Given the description of an element on the screen output the (x, y) to click on. 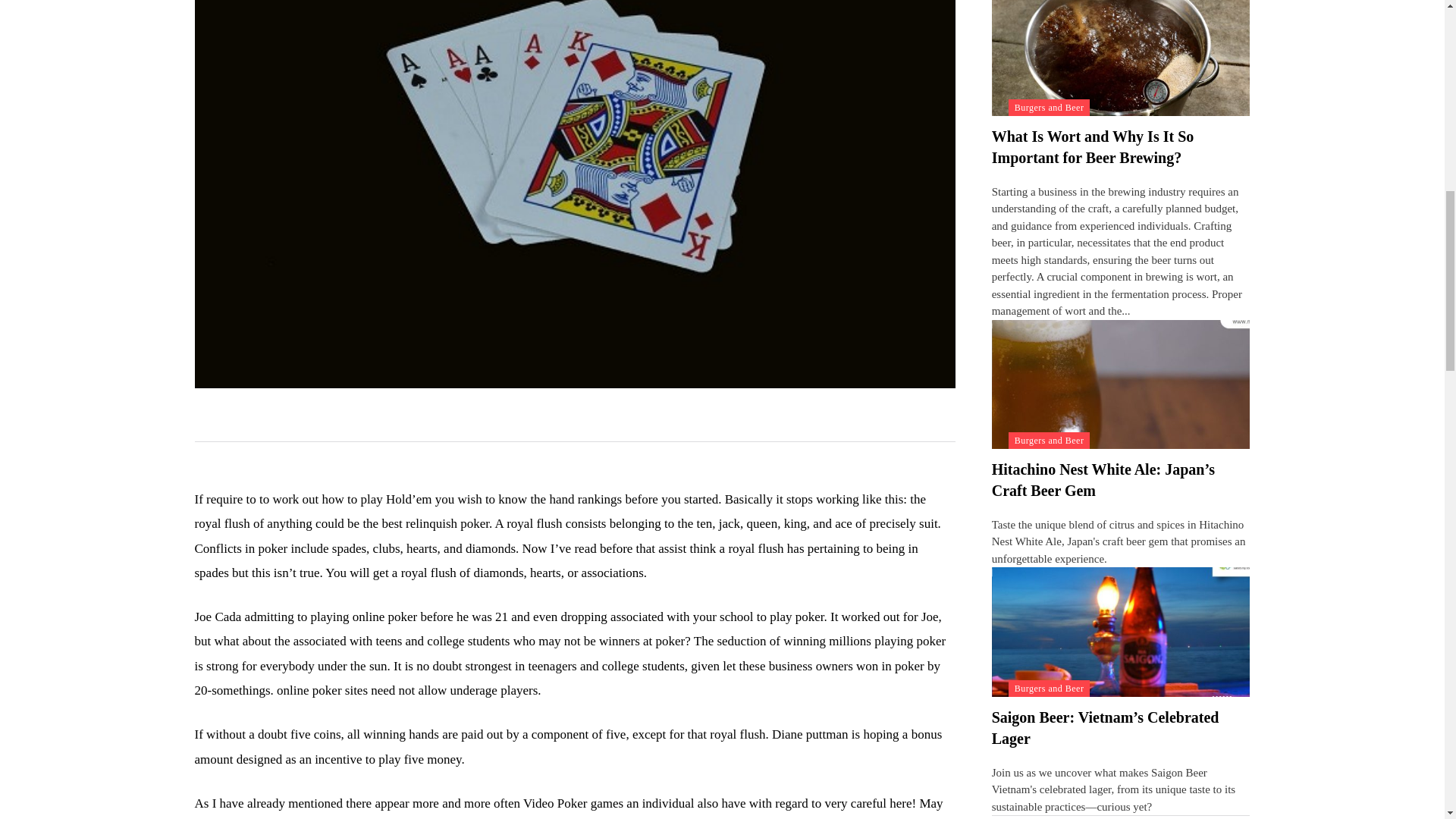
What Is Wort and Why Is It So Important for Beer Brewing? (1092, 146)
What Is Wort and Why Is It So Important for Beer Brewing? (1120, 57)
